Given the description of an element on the screen output the (x, y) to click on. 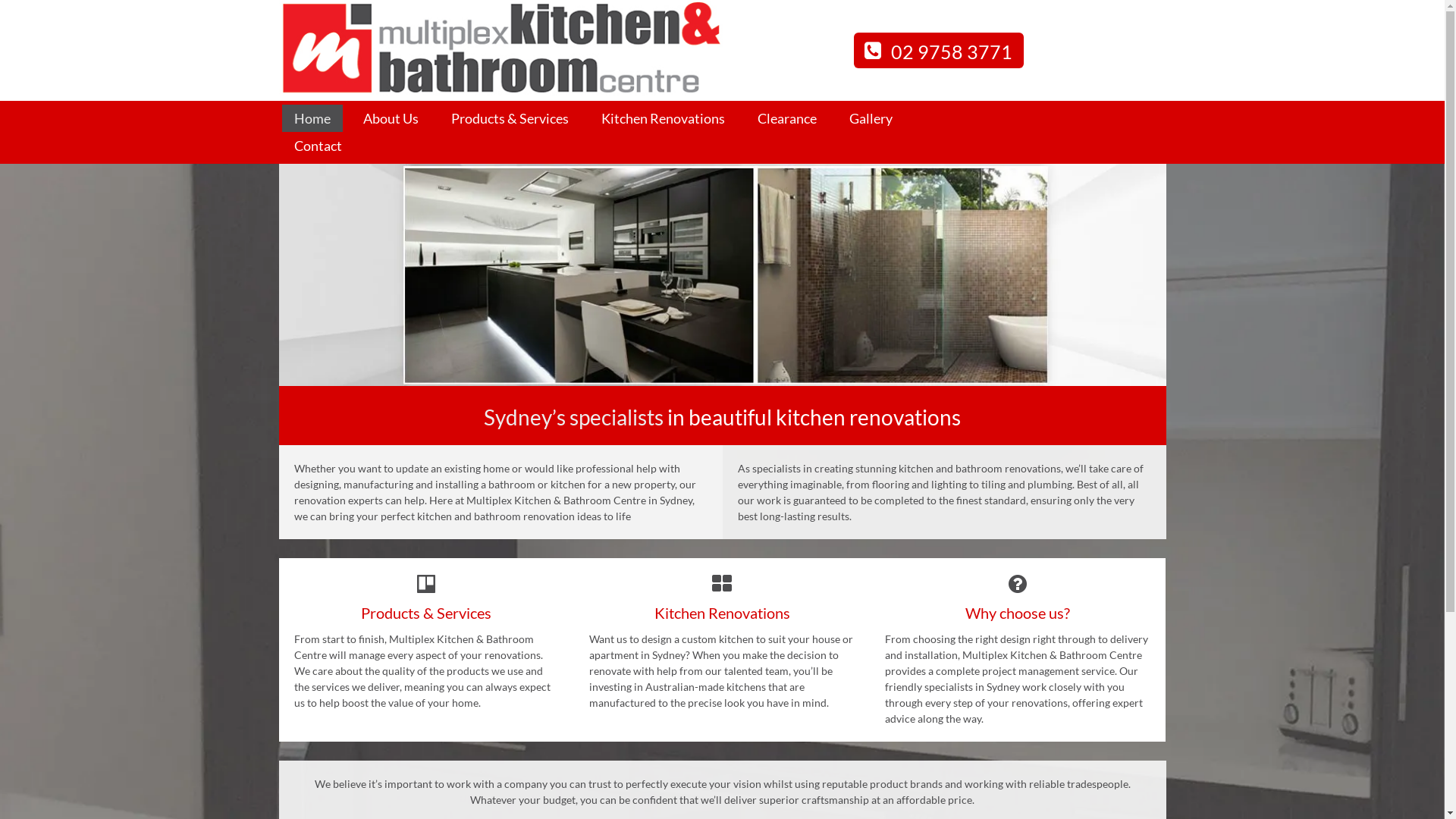
About Us Element type: text (389, 118)
Contact Element type: text (318, 145)
Kitchen Renovations Element type: text (662, 118)
Home Element type: text (312, 118)
Gallery Element type: text (870, 118)
multiplex kitchen and bathroom centre logo Element type: hover (500, 48)
Clearance Element type: text (786, 118)
Products & Services Element type: text (509, 118)
02 9758 3771 Element type: text (938, 50)
